Given the description of an element on the screen output the (x, y) to click on. 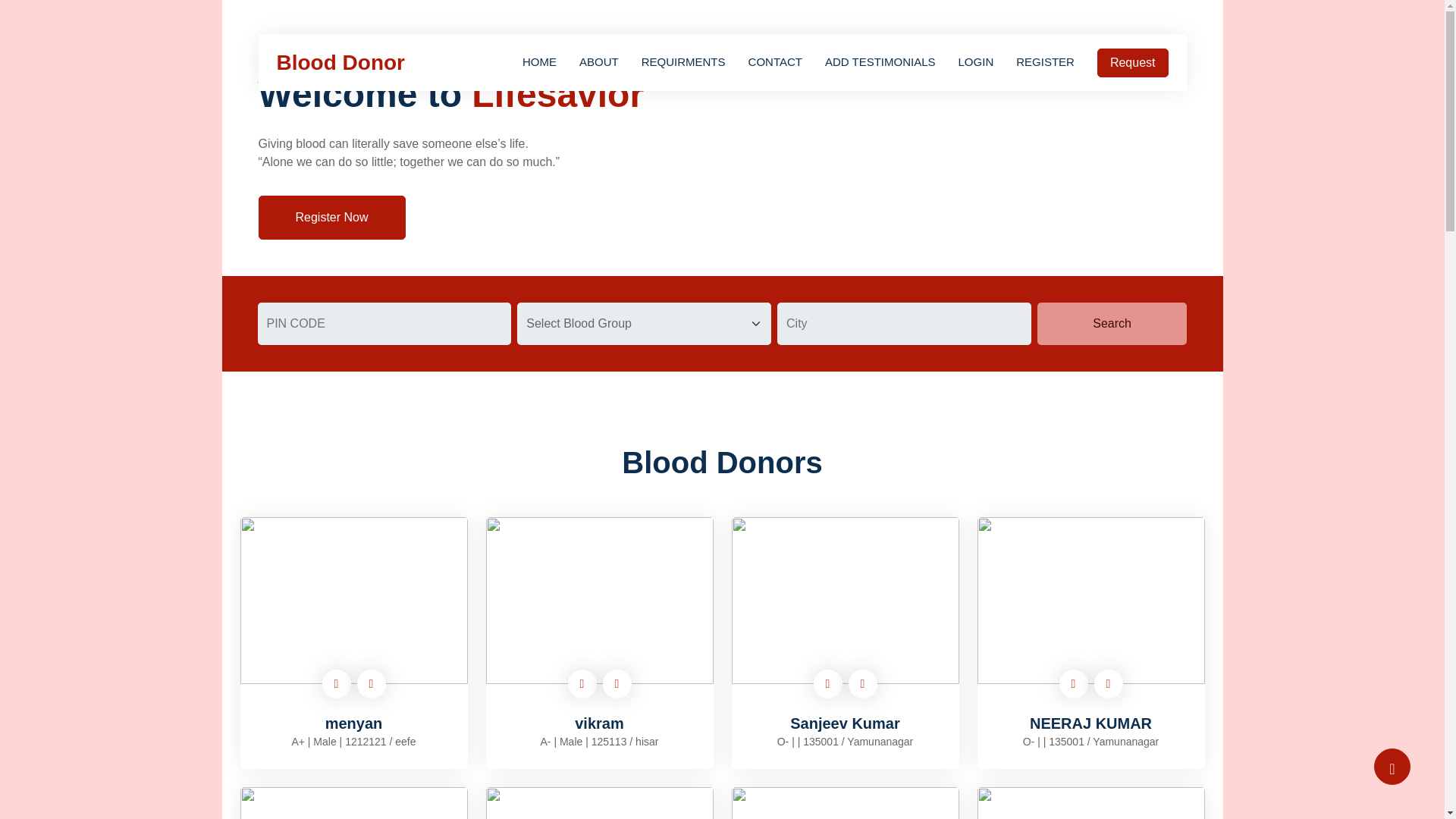
CONTACT (775, 62)
REQUIRMENTS (683, 62)
REGISTER (1045, 62)
Search (1112, 323)
Request (1133, 62)
Blood Donor (340, 62)
Register Now (330, 217)
ADD TESTIMONIALS (880, 62)
